Given the description of an element on the screen output the (x, y) to click on. 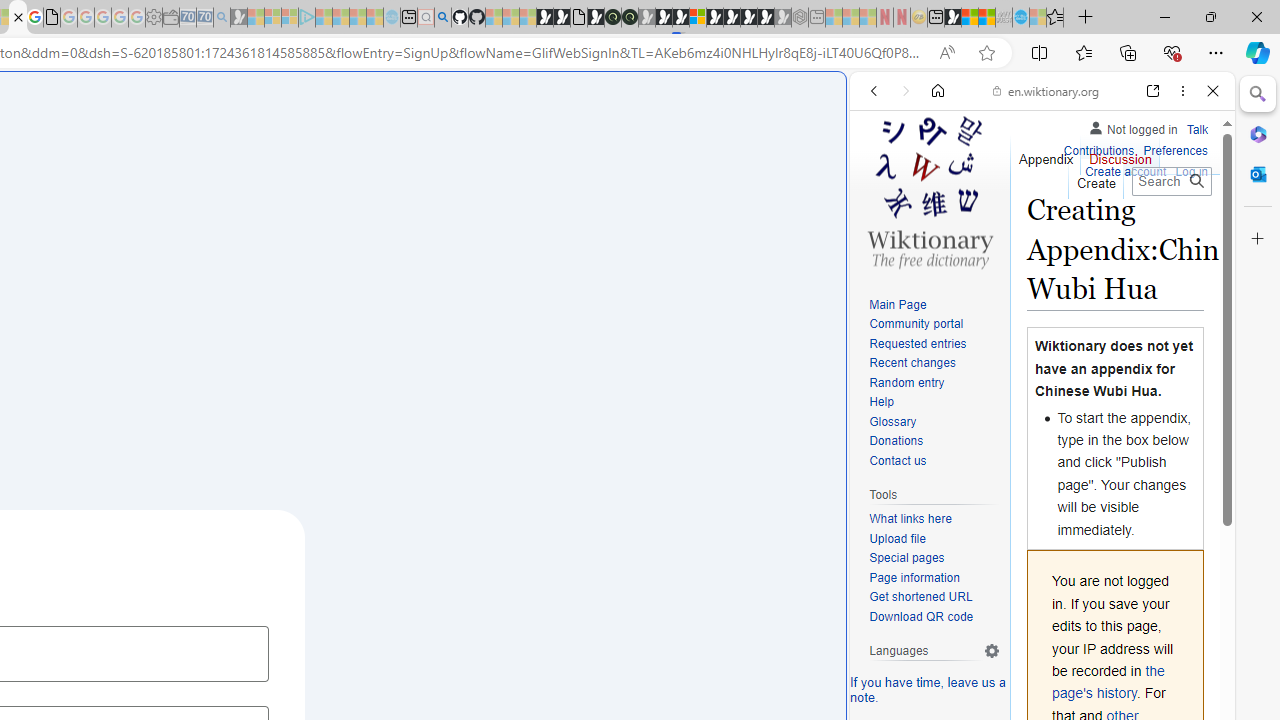
Appendix (1046, 154)
Create (1095, 178)
Discussion (1120, 154)
Appendix (1046, 154)
